Given the description of an element on the screen output the (x, y) to click on. 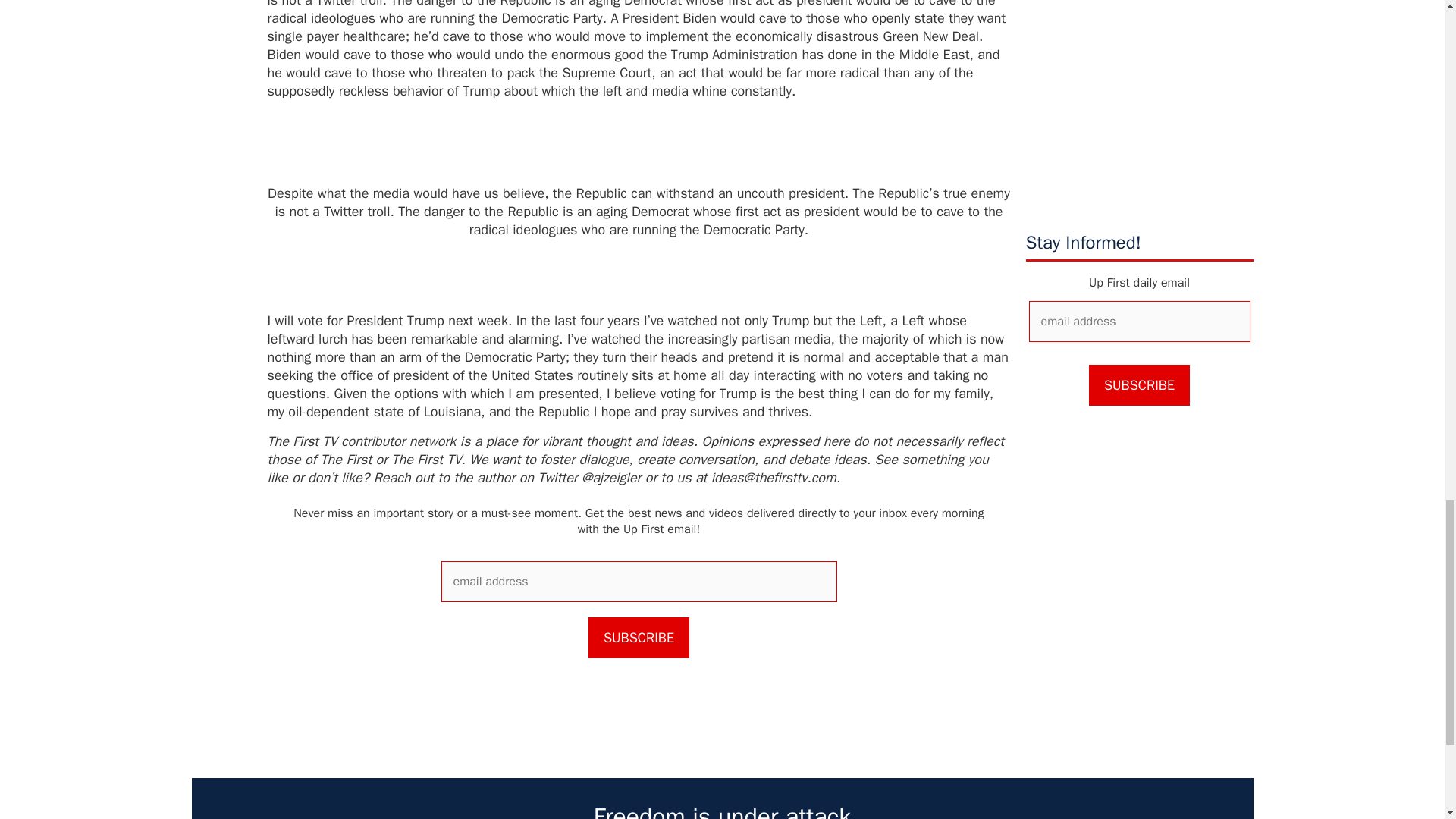
Subscribe (1139, 384)
Subscribe (638, 637)
Subscribe (638, 637)
Subscribe (1139, 384)
